Given the description of an element on the screen output the (x, y) to click on. 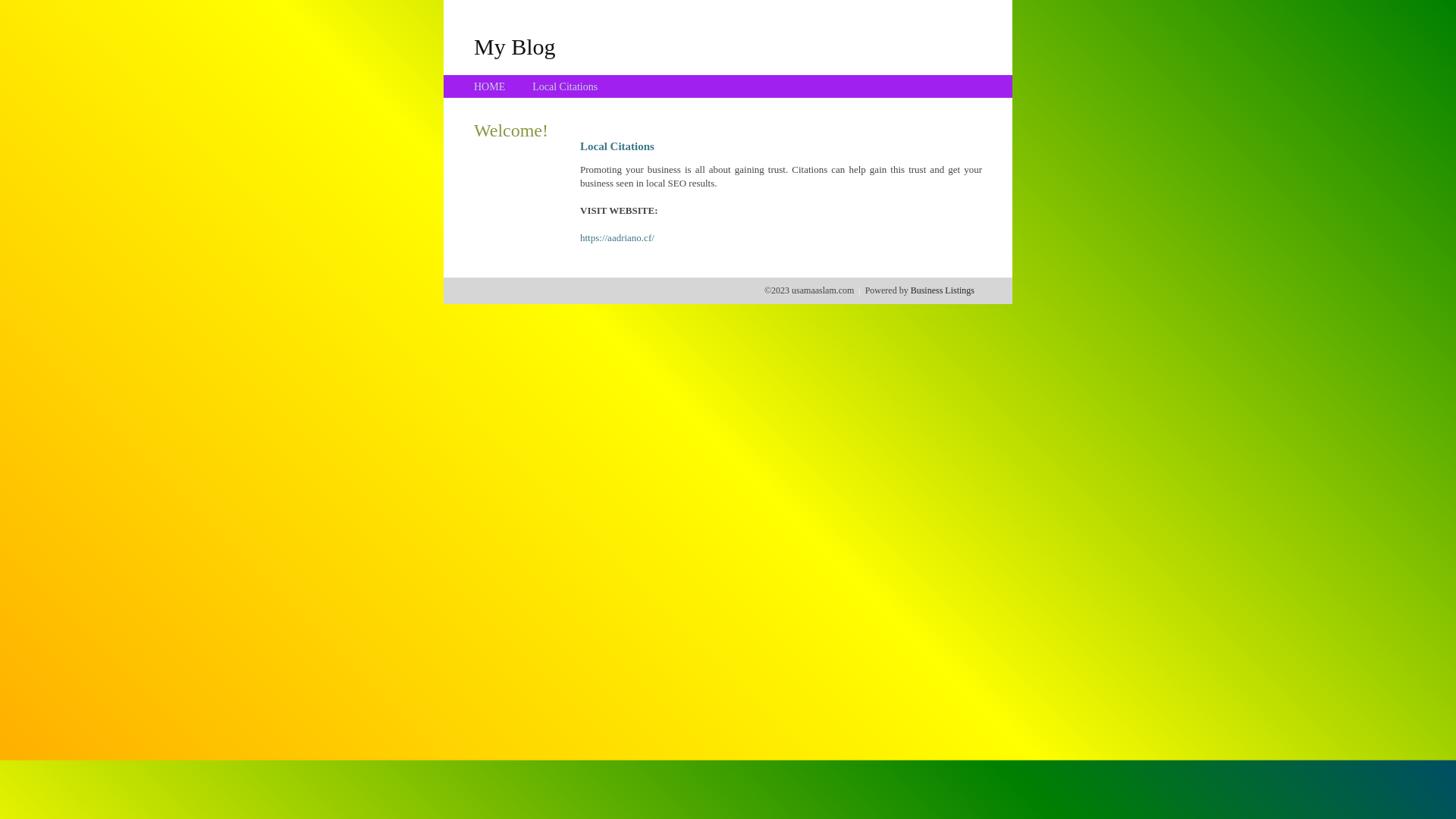
My Blog Element type: text (514, 46)
Local Citations Element type: text (564, 86)
https://aadriano.cf/ Element type: text (617, 237)
Business Listings Element type: text (942, 290)
HOME Element type: text (489, 86)
